Given the description of an element on the screen output the (x, y) to click on. 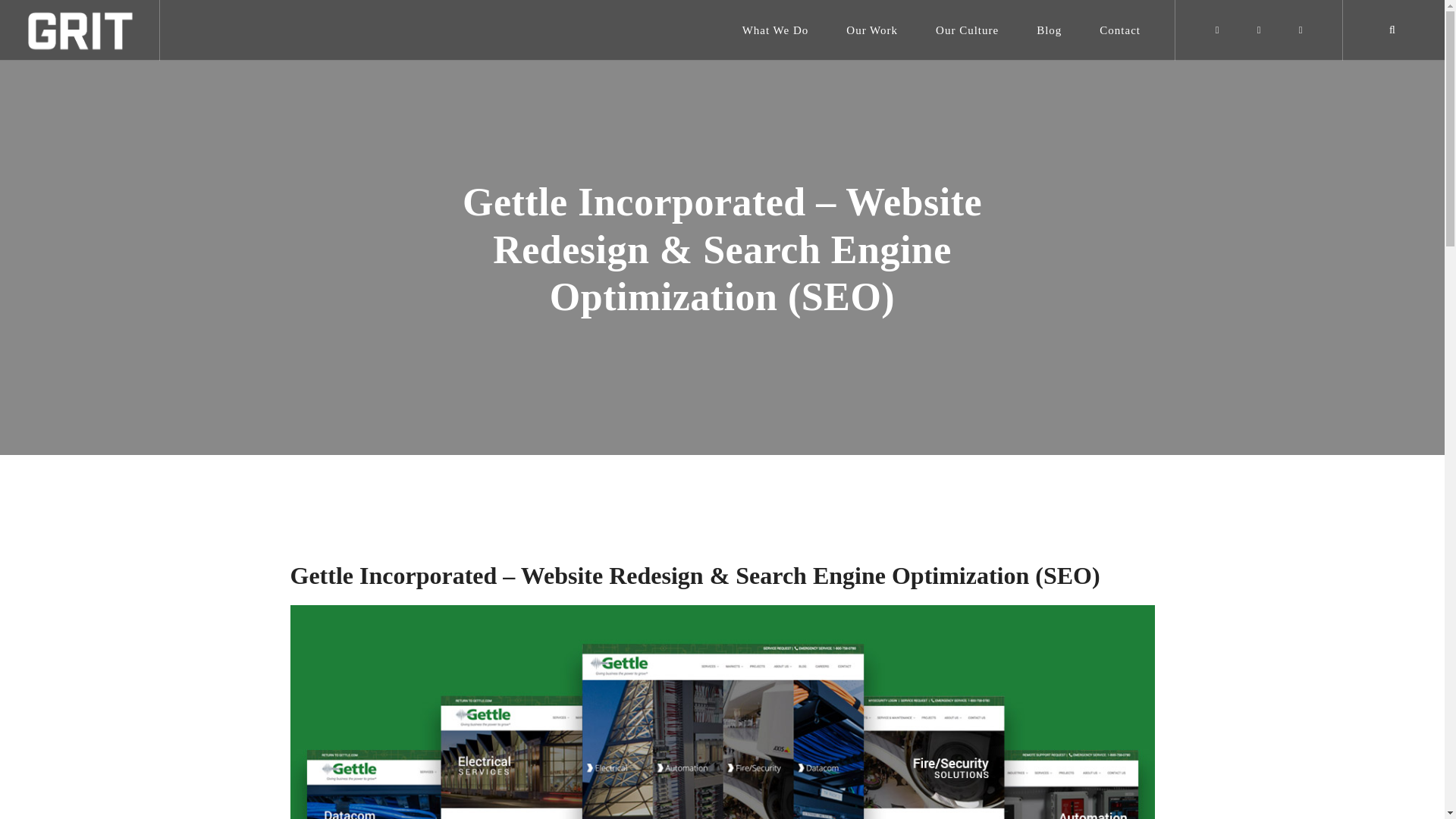
Our Culture (967, 30)
What We Do (775, 30)
Contact (1119, 30)
Blog (1048, 30)
Our Work (872, 30)
